Given the description of an element on the screen output the (x, y) to click on. 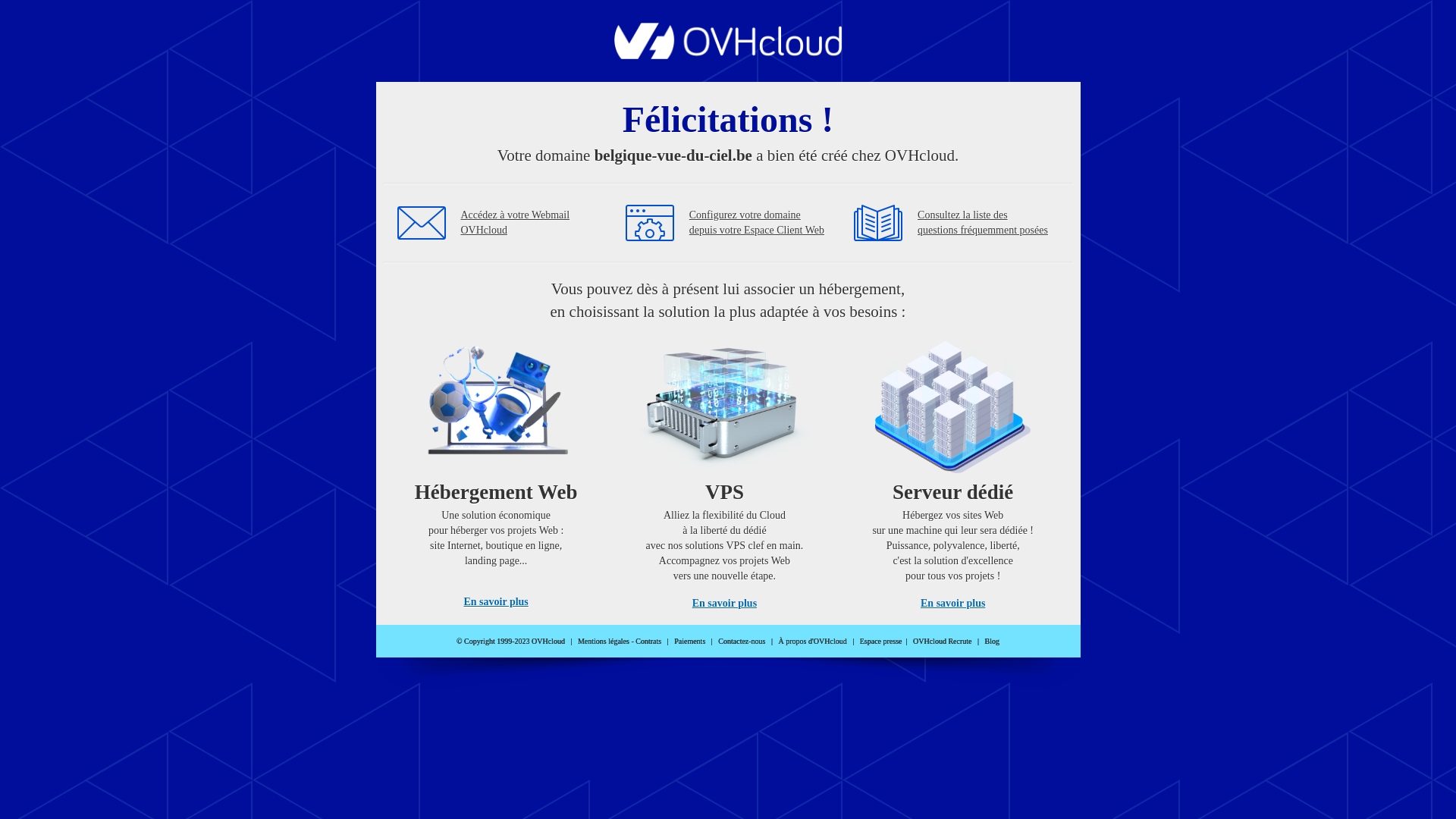
Espace presse Element type: text (880, 641)
OVHcloud Recrute Element type: text (942, 641)
En savoir plus Element type: text (724, 602)
Configurez votre domaine
depuis votre Espace Client Web Element type: text (756, 222)
VPS Element type: hover (724, 469)
Blog Element type: text (992, 641)
En savoir plus Element type: text (952, 602)
Contactez-nous Element type: text (741, 641)
OVHcloud Element type: hover (727, 54)
En savoir plus Element type: text (495, 601)
Paiements Element type: text (689, 641)
